Given the description of an element on the screen output the (x, y) to click on. 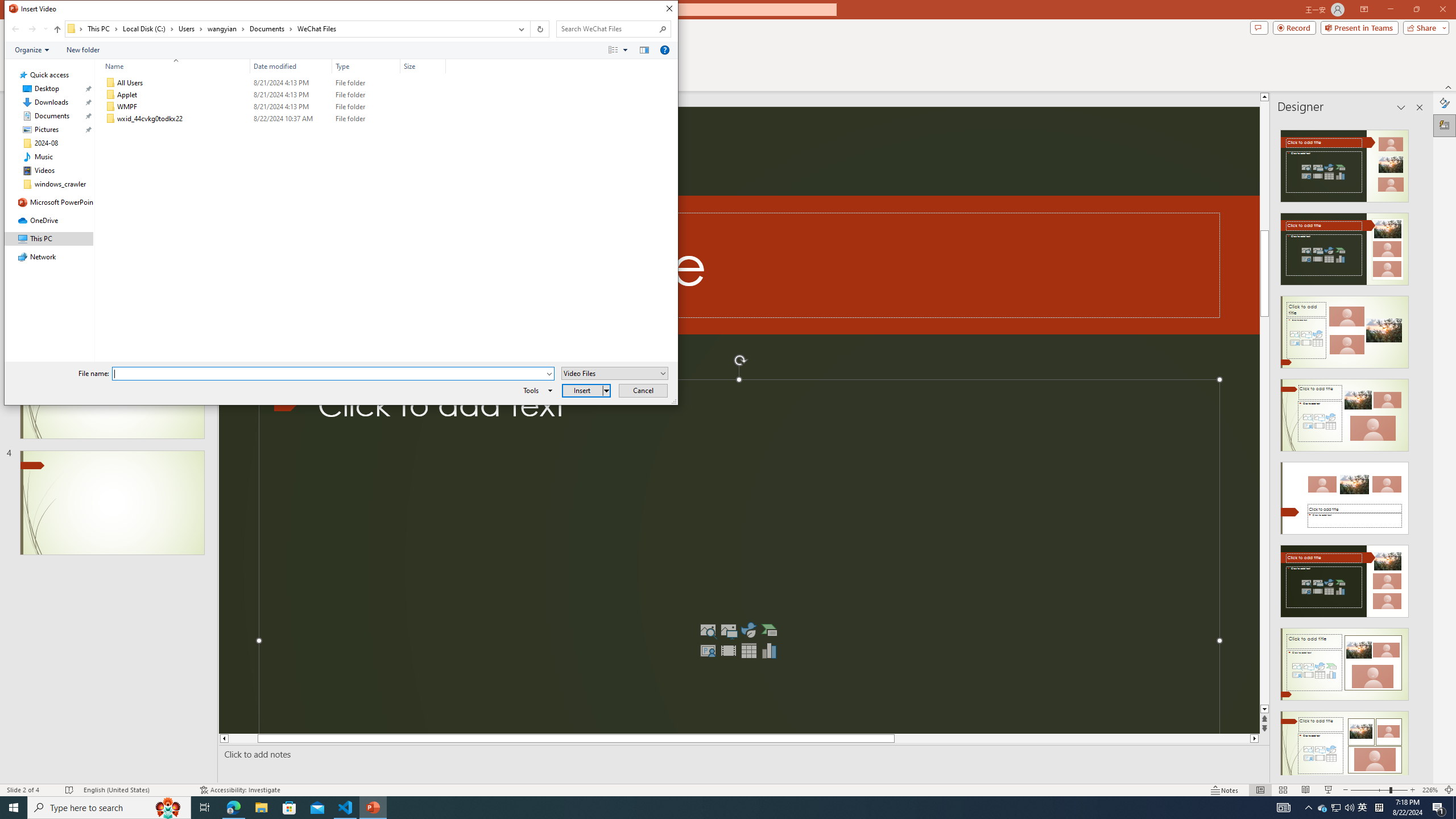
Slide Notes (741, 754)
Name (173, 65)
Pictures (728, 629)
Organize (31, 49)
New folder (82, 49)
